Given the description of an element on the screen output the (x, y) to click on. 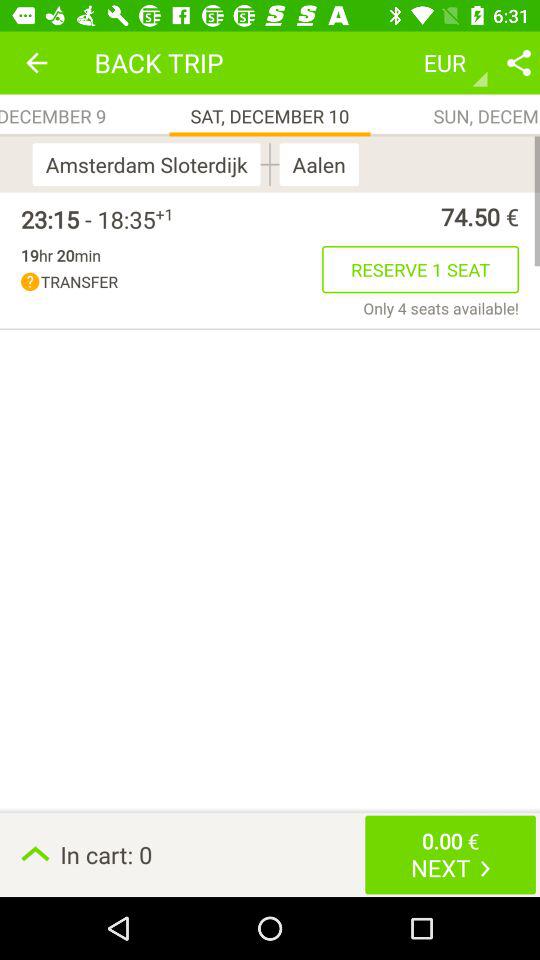
select icon next to +1 (88, 219)
